Given the description of an element on the screen output the (x, y) to click on. 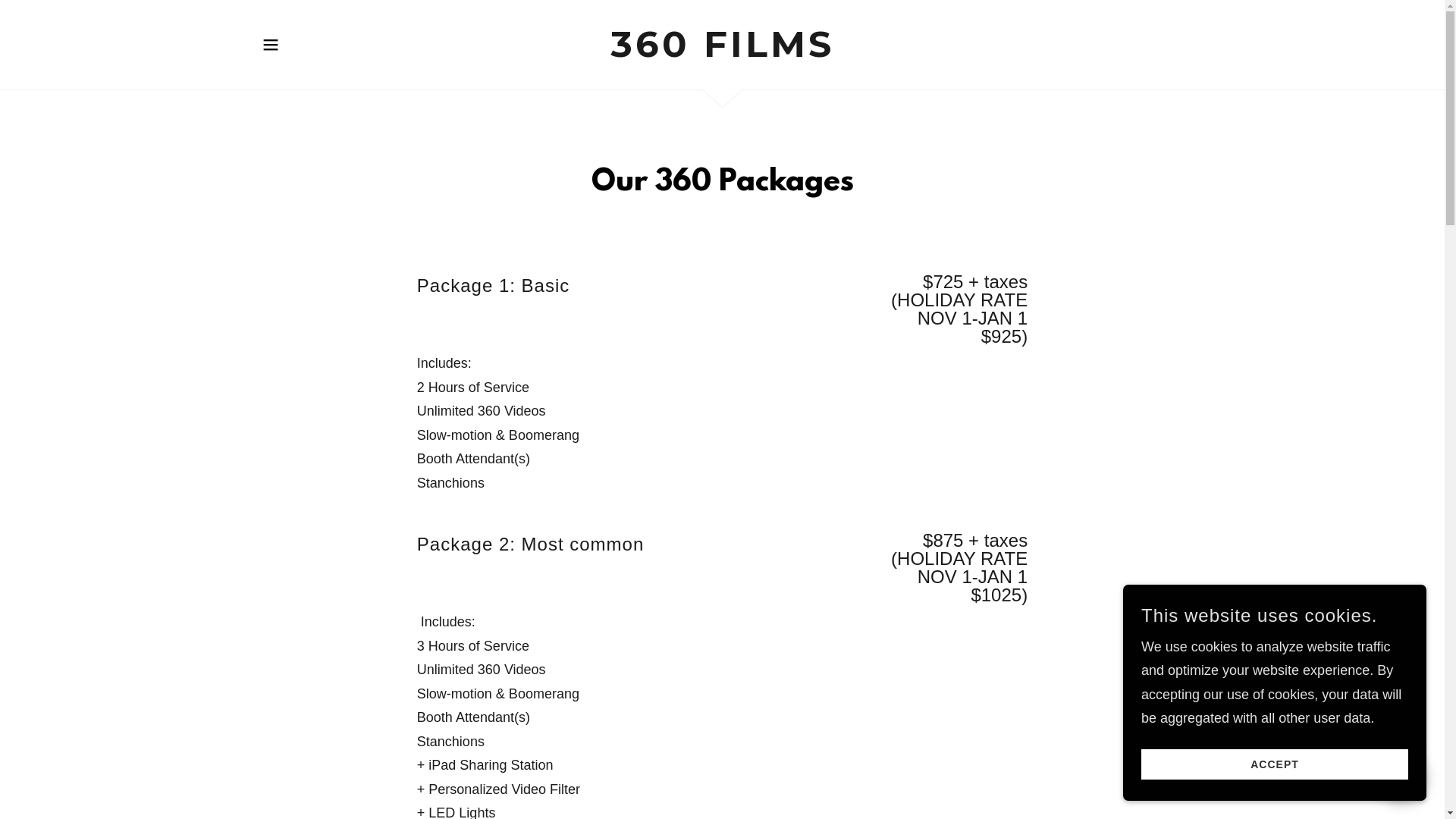
ACCEPT Element type: text (1274, 764)
360 FILMS Element type: text (722, 51)
